Given the description of an element on the screen output the (x, y) to click on. 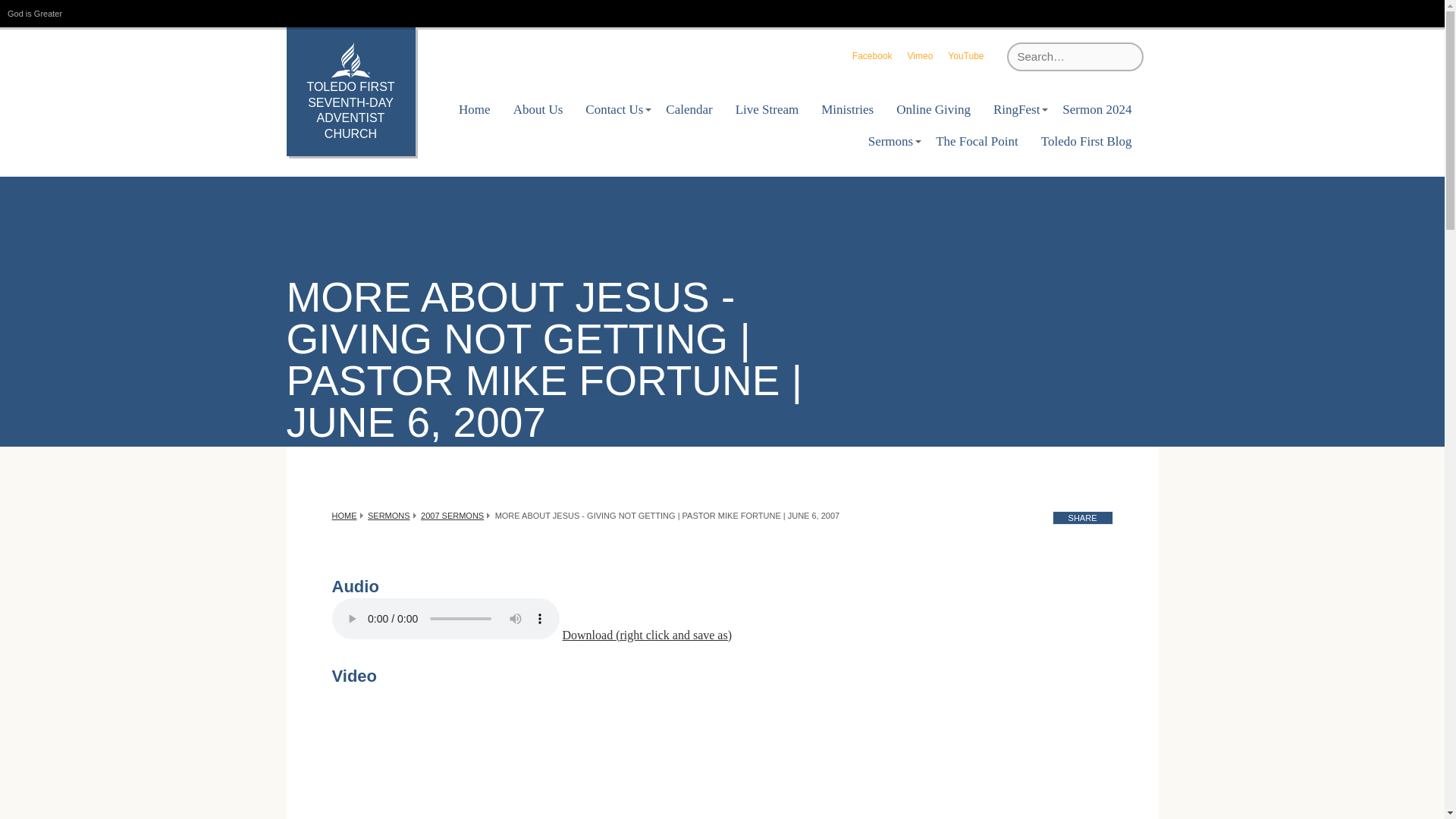
Ministries (846, 110)
TOLEDO FIRST SEVENTH-DAY ADVENTIST CHURCH (350, 91)
YouTube (965, 56)
RingFest (1016, 110)
Sermon 2024 (1096, 110)
About Us (538, 110)
Home (474, 110)
HOME (343, 515)
Online Giving (932, 110)
The Focal Point (976, 142)
Calendar (689, 110)
Vimeo (920, 56)
Toledo First Blog (1085, 142)
SERMONS (389, 515)
